Given the description of an element on the screen output the (x, y) to click on. 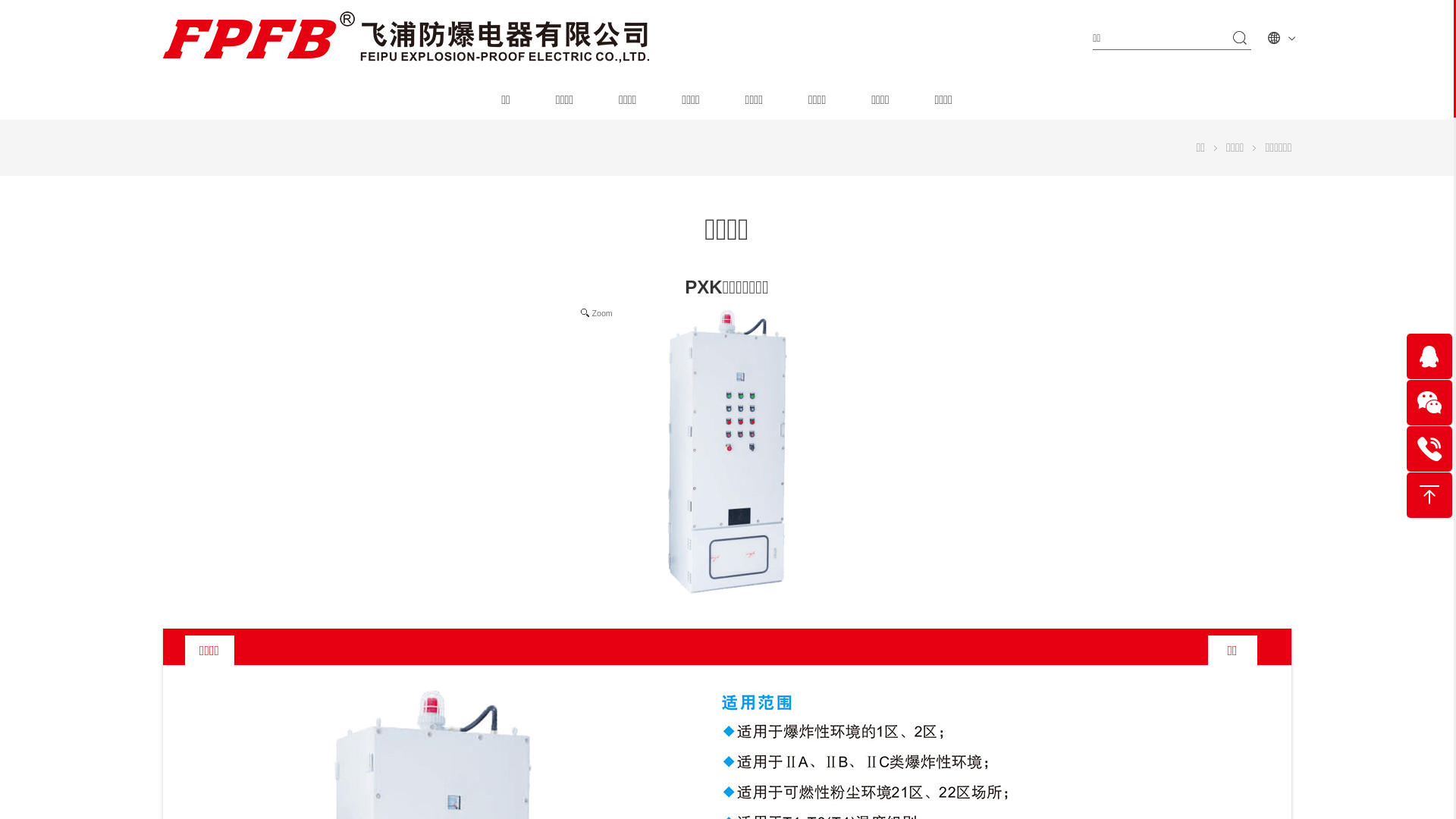
Zoom Element type: text (726, 452)
